Given the description of an element on the screen output the (x, y) to click on. 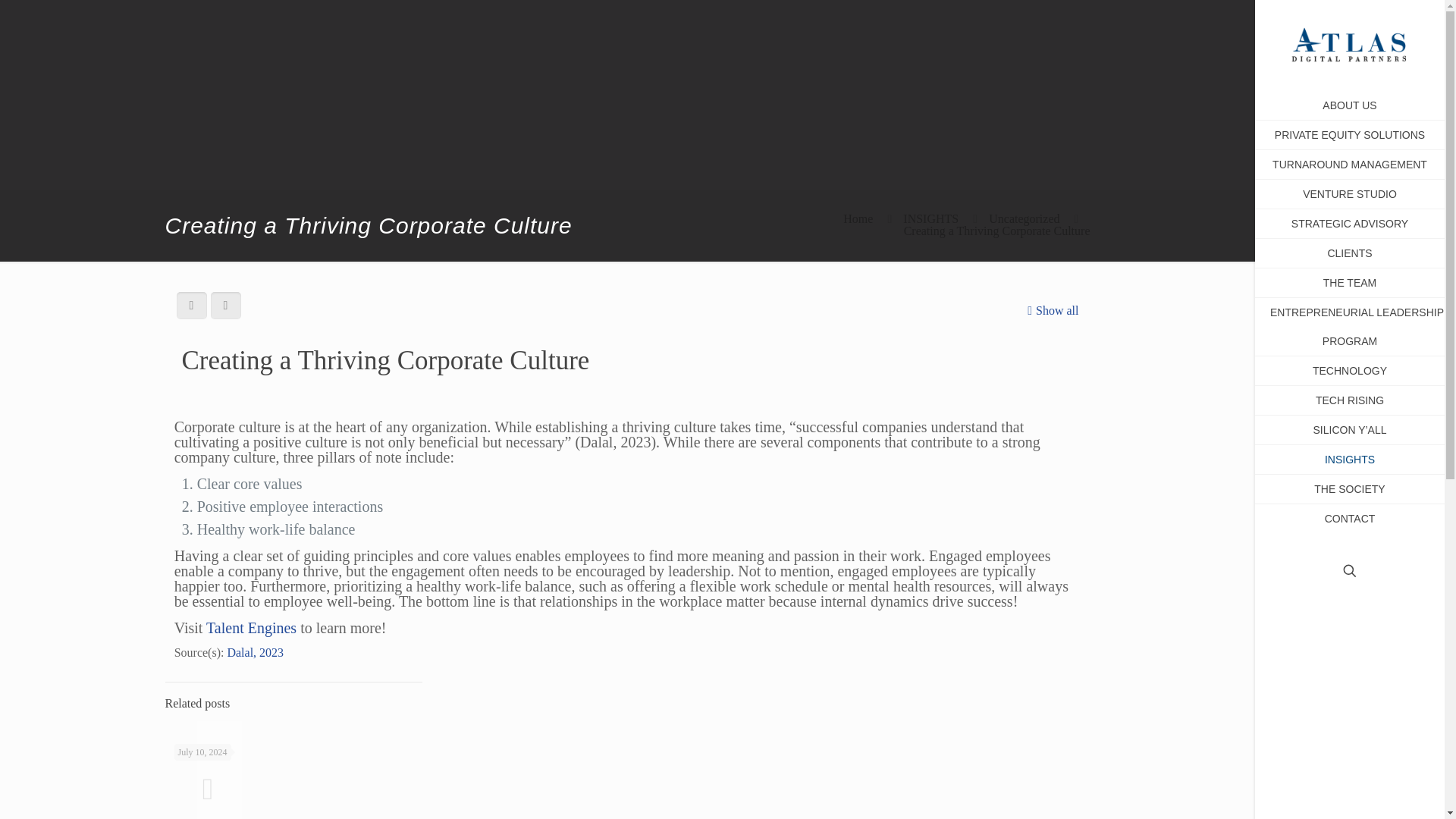
Talent Engines (251, 627)
Creating a Thriving Corporate Culture (997, 230)
INSIGHTS (930, 218)
LinkedIn (1365, 798)
Home (857, 218)
Show all (1050, 310)
Uncategorized (1023, 218)
Facebook (1333, 798)
Dalal, 2023 (255, 652)
